Given the description of an element on the screen output the (x, y) to click on. 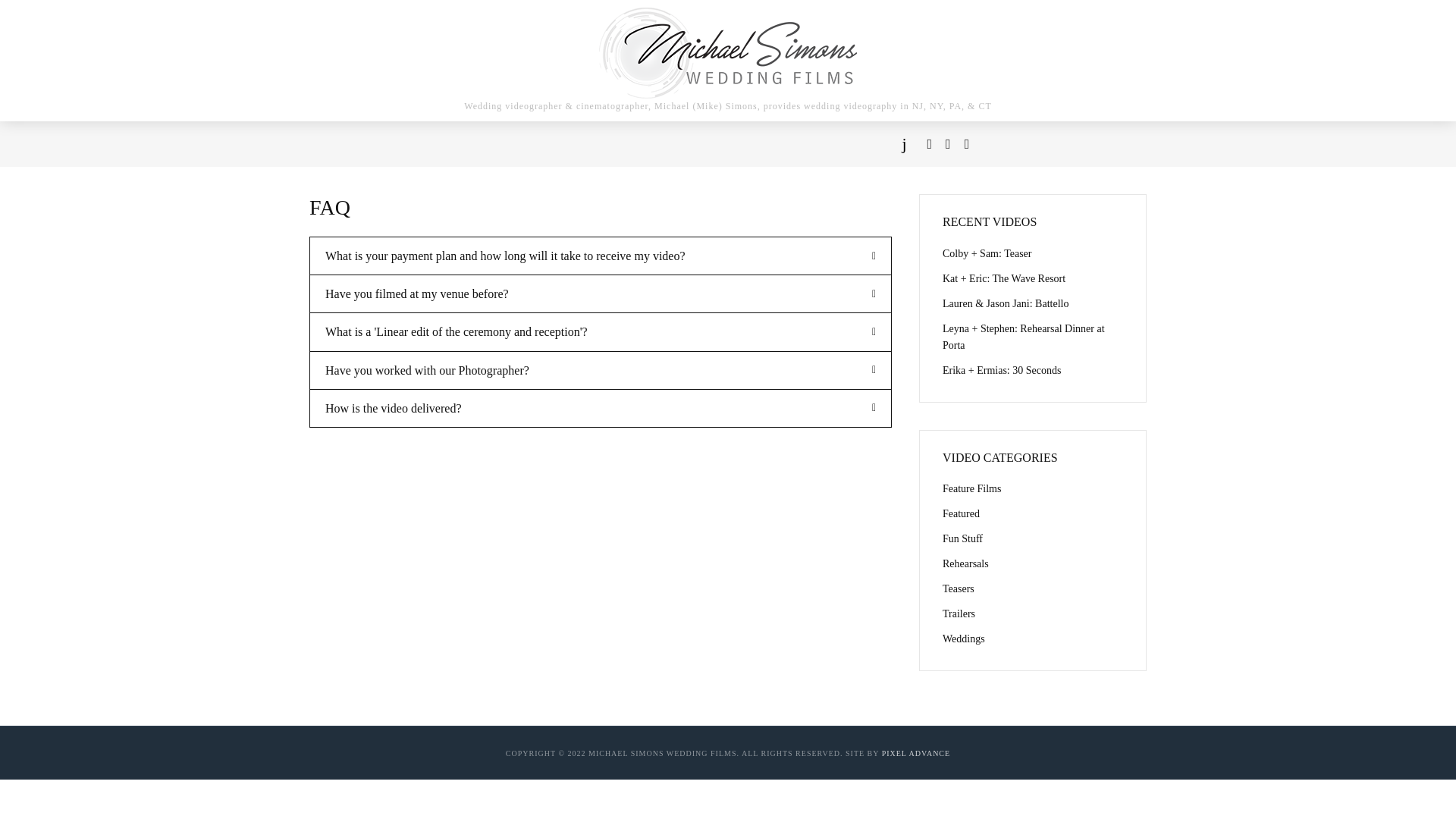
PIXEL ADVANCE (916, 753)
Weddings (1032, 638)
Teasers (1032, 588)
Rehearsals (1032, 564)
Fun Stuff (1032, 538)
Feature Films (1032, 488)
Trailers (1032, 614)
Featured (1032, 514)
